Given the description of an element on the screen output the (x, y) to click on. 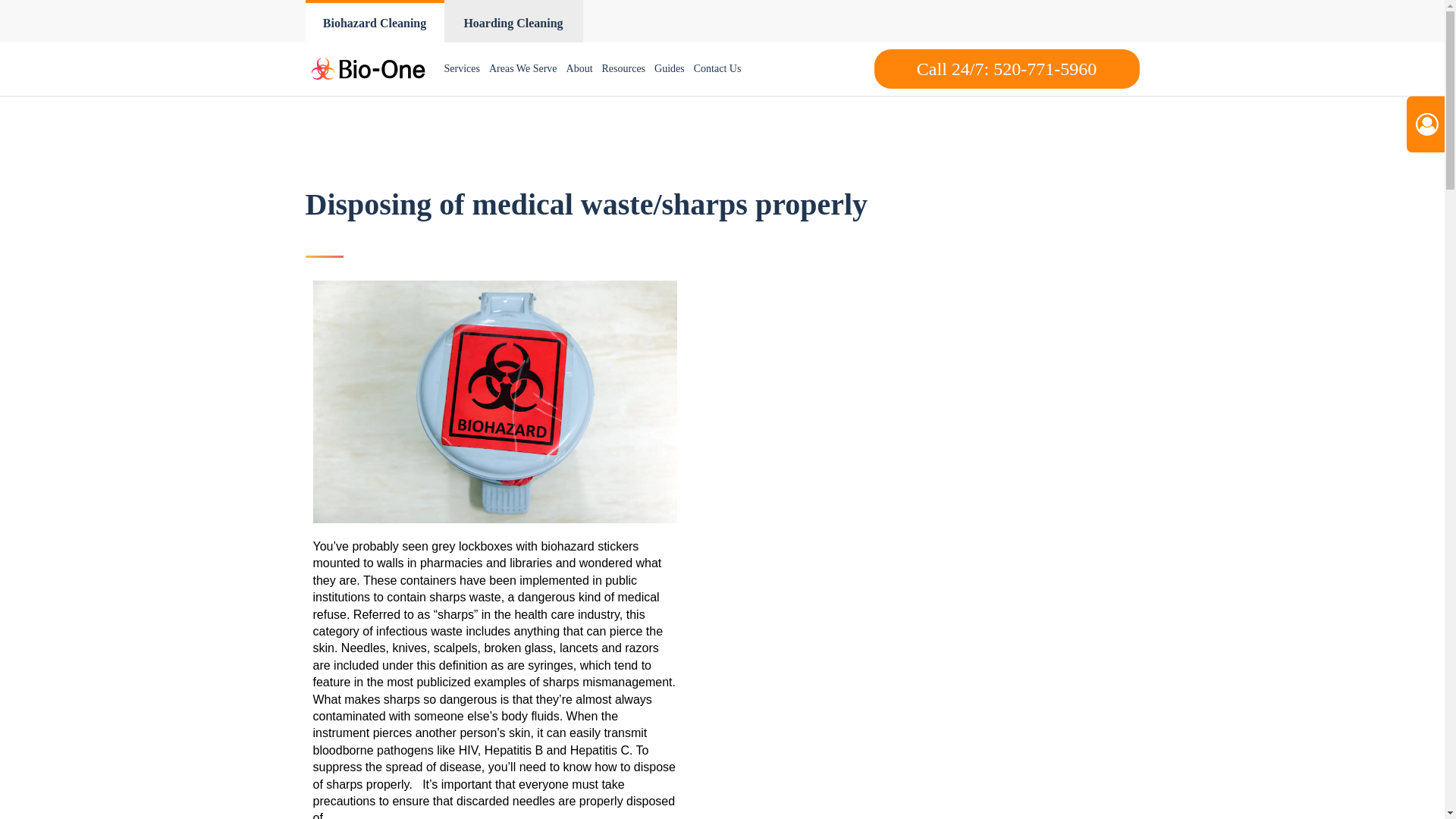
Areas We Serve (523, 68)
Biohazard Cleaning (374, 21)
Contact Us (716, 68)
Services (461, 68)
Hoarding Cleaning (513, 21)
Image (495, 401)
Resources (623, 68)
